Given the description of an element on the screen output the (x, y) to click on. 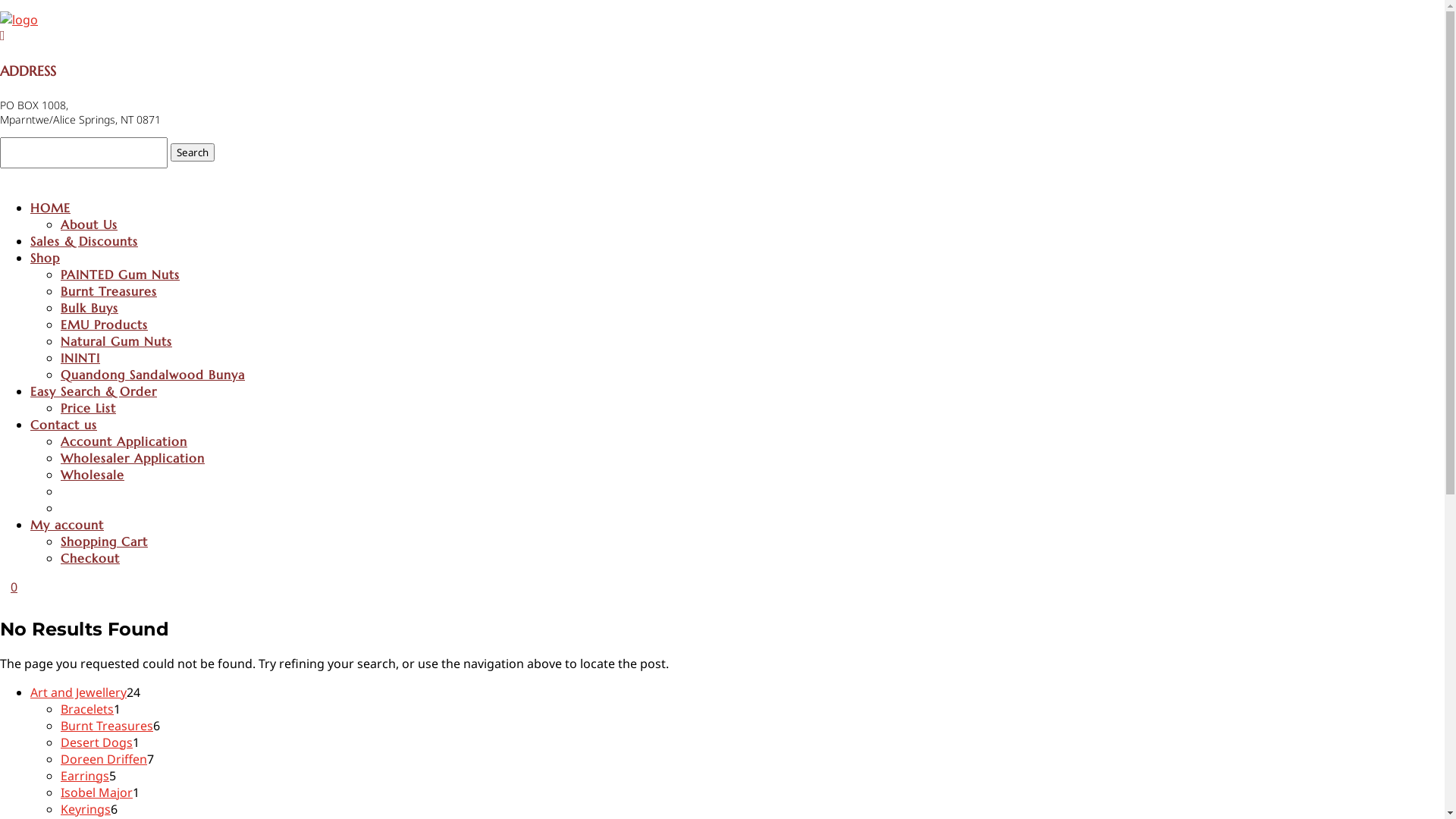
Art and Jewellery Element type: text (78, 692)
Shop Element type: text (44, 257)
Price List Element type: text (88, 407)
Doreen Driffen Element type: text (103, 758)
Quandong Sandalwood Bunya Element type: text (152, 374)
Keyrings Element type: text (85, 808)
Easy Search & Order Element type: text (93, 390)
Wholesaler Application Element type: text (132, 457)
Desert Dogs Element type: text (96, 742)
Bracelets Element type: text (86, 708)
EMU Products Element type: text (103, 324)
Isobel Major Element type: text (96, 792)
Sales & Discounts Element type: text (84, 240)
0 Element type: text (14, 586)
Shopping Cart Element type: text (103, 541)
Checkout Element type: text (89, 557)
About Us Element type: text (88, 224)
Earrings Element type: text (84, 775)
PAINTED Gum Nuts Element type: text (119, 274)
Ininti Traders Logo Aussie Native Craft Supplies Element type: hover (18, 19)
HOME Element type: text (50, 207)
Natural Gum Nuts Element type: text (116, 340)
Wholesale Element type: text (92, 474)
Search Element type: text (192, 152)
Contact us Element type: text (63, 424)
Account Application Element type: text (123, 440)
ININTI Element type: text (80, 357)
Burnt Treasures Element type: text (106, 725)
Burnt Treasures Element type: text (108, 290)
Bulk Buys Element type: text (89, 307)
My account Element type: text (66, 524)
